Given the description of an element on the screen output the (x, y) to click on. 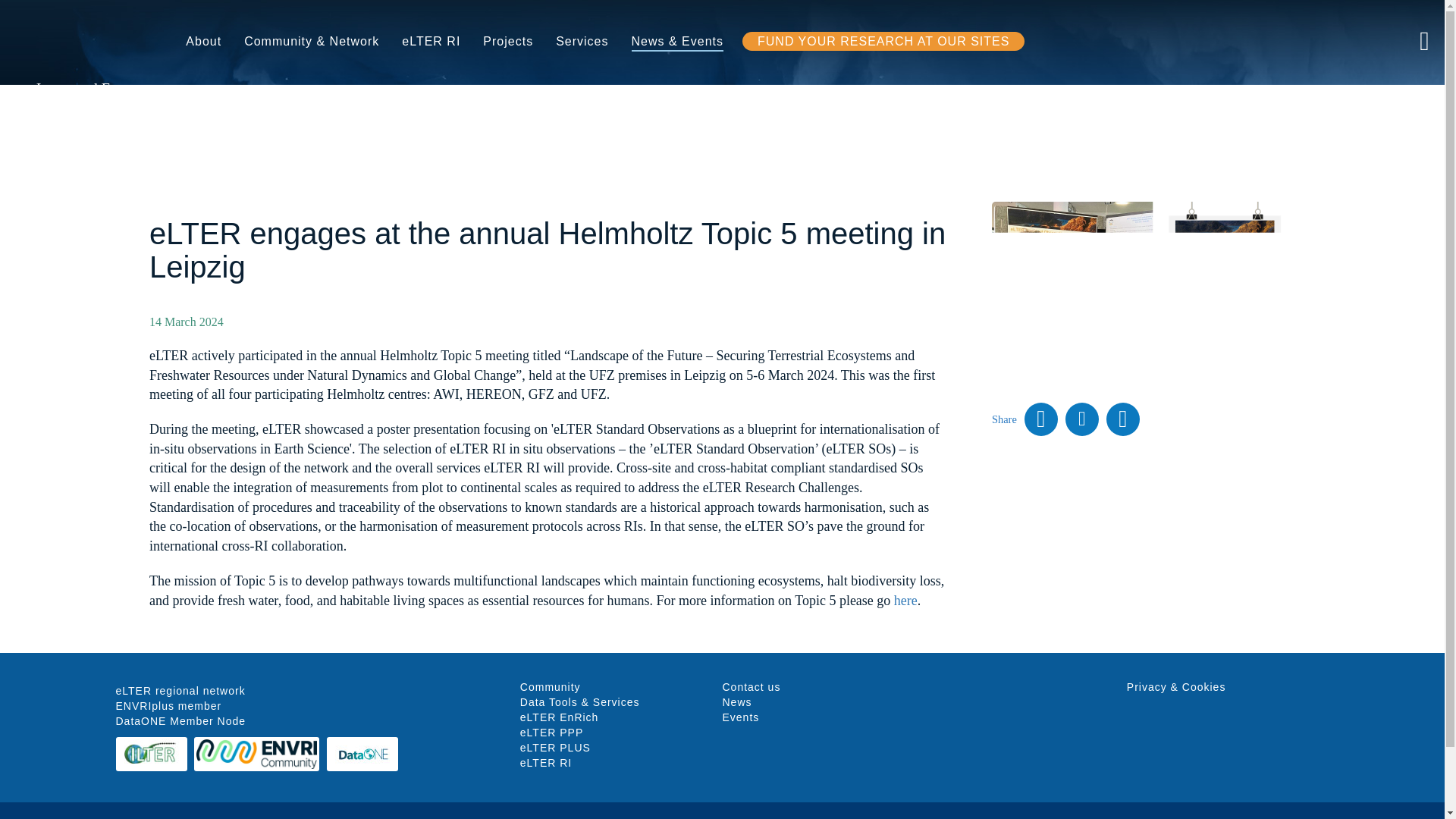
Projects (507, 42)
About (203, 42)
Services (582, 42)
FUND YOUR RESEARCH AT OUR SITES (883, 40)
eLTER RI (430, 42)
Statement on the violence in Ukraine (1048, 40)
